Given the description of an element on the screen output the (x, y) to click on. 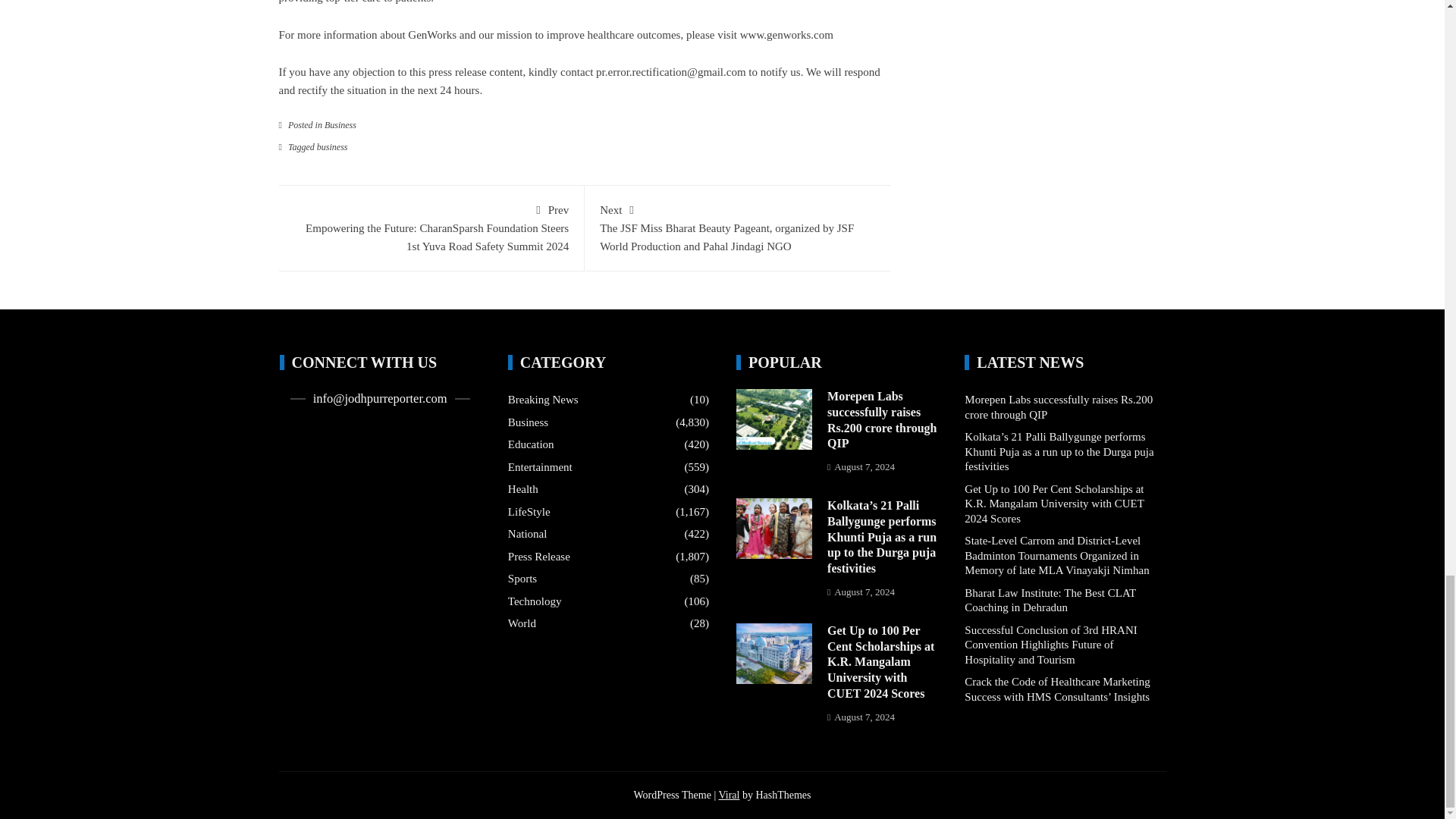
Breaking News (543, 400)
www.genworks.com (785, 34)
Health (523, 489)
Entertainment (540, 467)
Business (340, 124)
Business (528, 422)
Education (531, 444)
business (332, 146)
LifeStyle (529, 512)
Download Viral (728, 794)
